Given the description of an element on the screen output the (x, y) to click on. 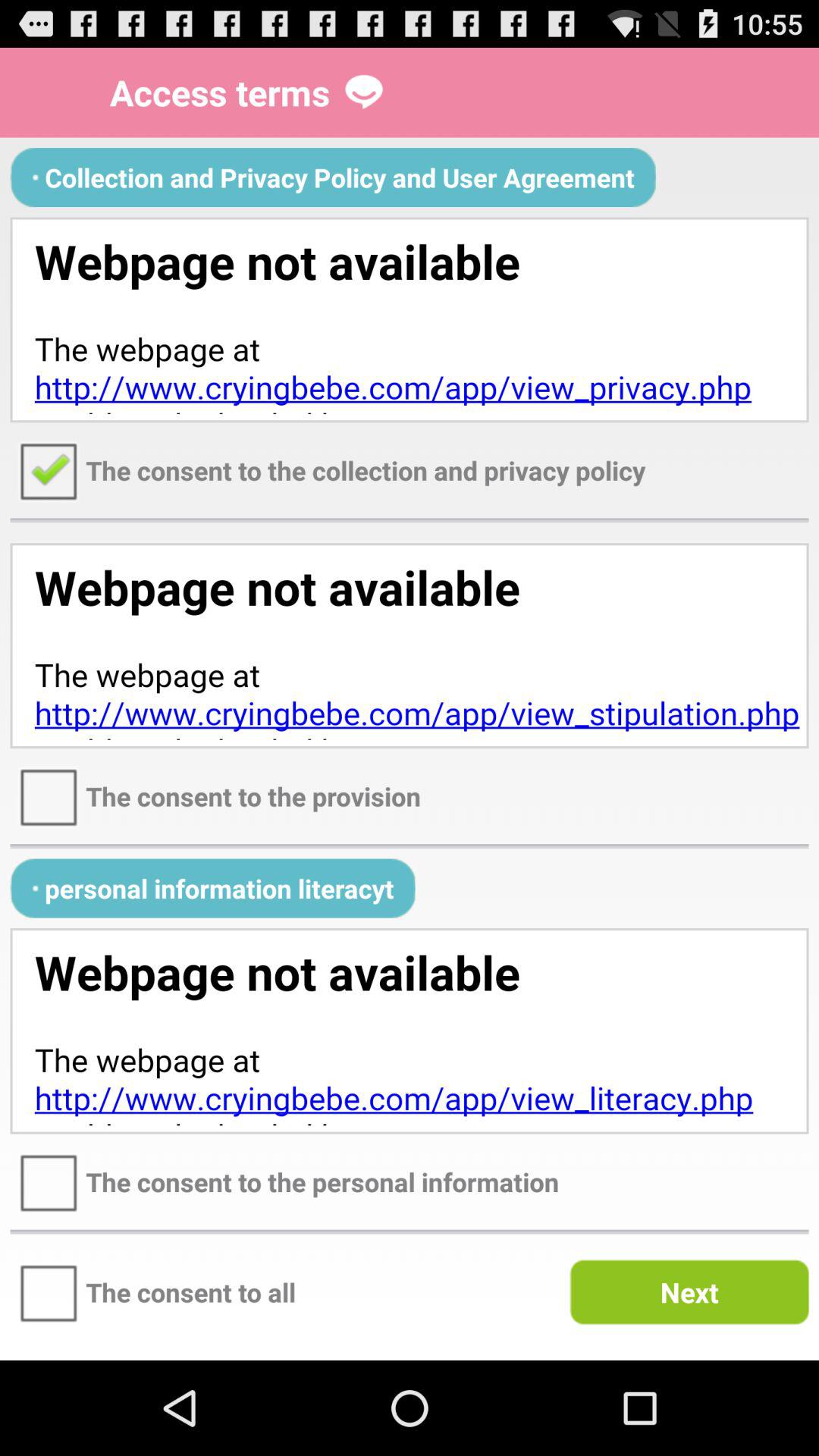
search box (409, 319)
